Given the description of an element on the screen output the (x, y) to click on. 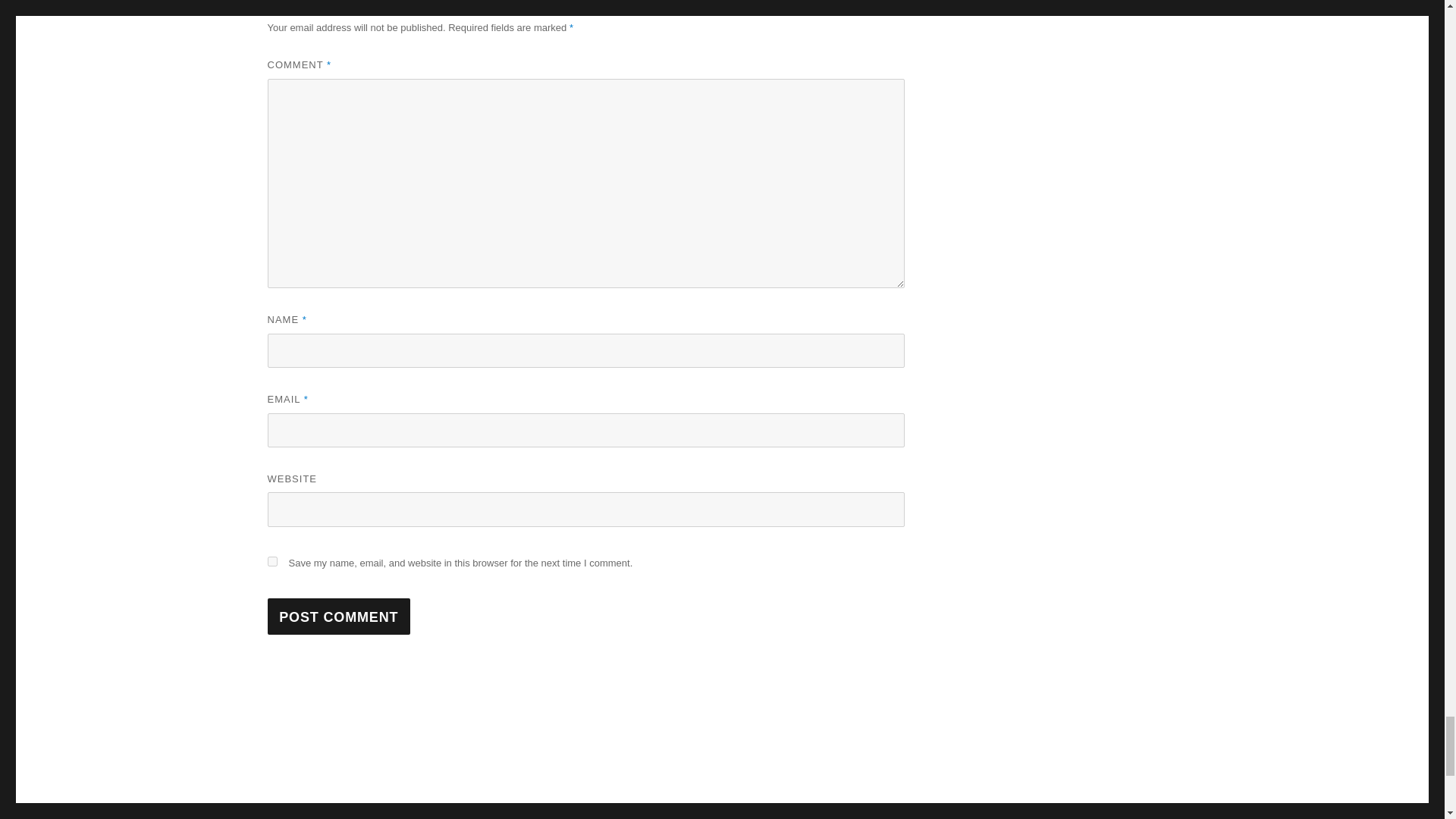
yes (271, 561)
Post Comment (338, 615)
Post Comment (338, 615)
